Given the description of an element on the screen output the (x, y) to click on. 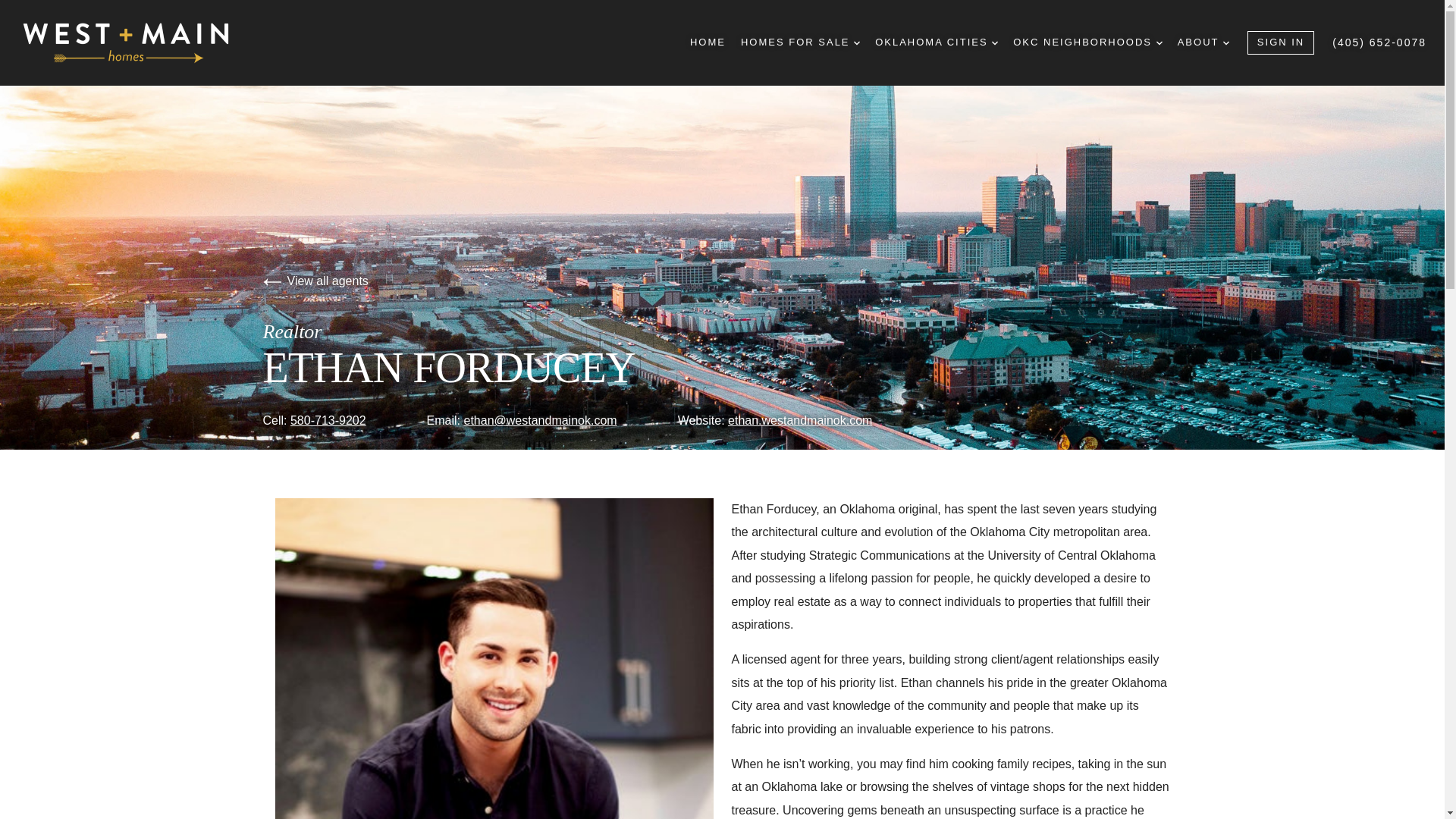
HOME (707, 42)
OKC NEIGHBORHOODS DROPDOWN ARROW (1087, 42)
DROPDOWN ARROW (994, 42)
HOMES FOR SALE DROPDOWN ARROW (800, 42)
DROPDOWN ARROW (1158, 42)
Arrow left (271, 281)
DROPDOWN ARROW (1225, 42)
DROPDOWN ARROW (856, 42)
OKLAHOMA CITIES DROPDOWN ARROW (936, 42)
